Given the description of an element on the screen output the (x, y) to click on. 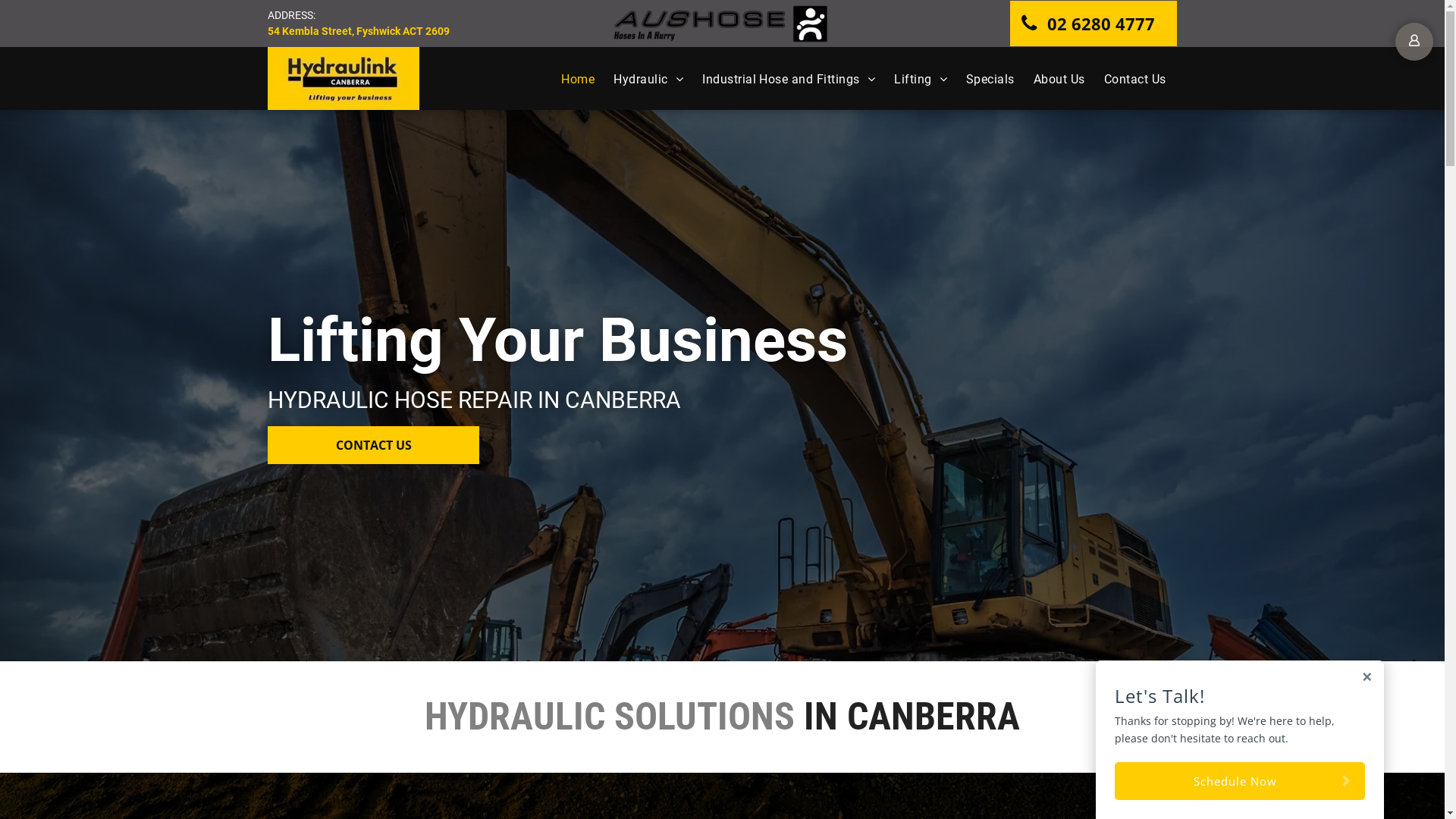
CONTACT US Element type: text (372, 445)
02 6280 4777 Element type: text (1093, 23)
Specials Element type: text (980, 78)
Schedule Now Element type: text (1239, 781)
AUSHOSE Element type: hover (721, 23)
54 Kembla Street, Fyshwick ACT 2609 Element type: text (357, 31)
Hydraulic Element type: text (638, 78)
Lifting Element type: text (911, 78)
About Us Element type: text (1049, 78)
Home Element type: text (568, 78)
Hydraulink Canberra Element type: hover (342, 78)
Contact Us Element type: text (1125, 78)
Industrial Hose and Fittings Element type: text (779, 78)
